Given the description of an element on the screen output the (x, y) to click on. 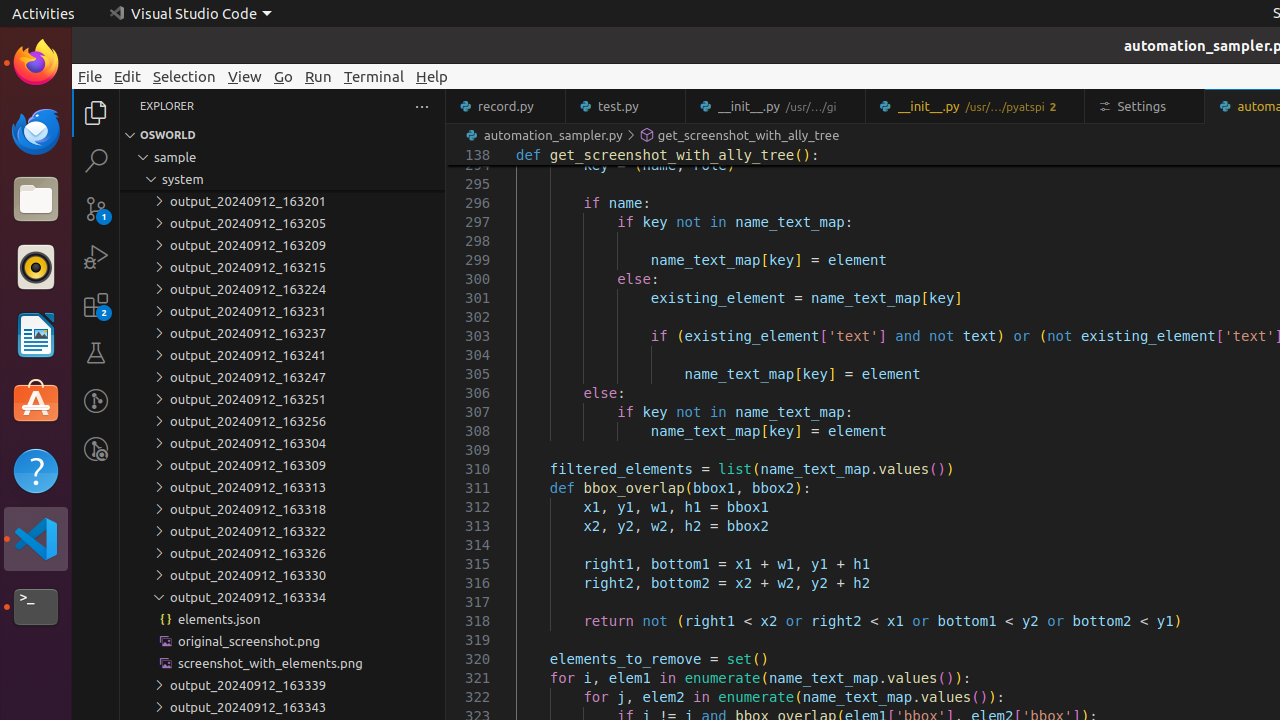
output_20240912_163237 Element type: tree-item (282, 333)
output_20240912_163205 Element type: tree-item (282, 223)
Run Element type: push-button (318, 76)
